Given the description of an element on the screen output the (x, y) to click on. 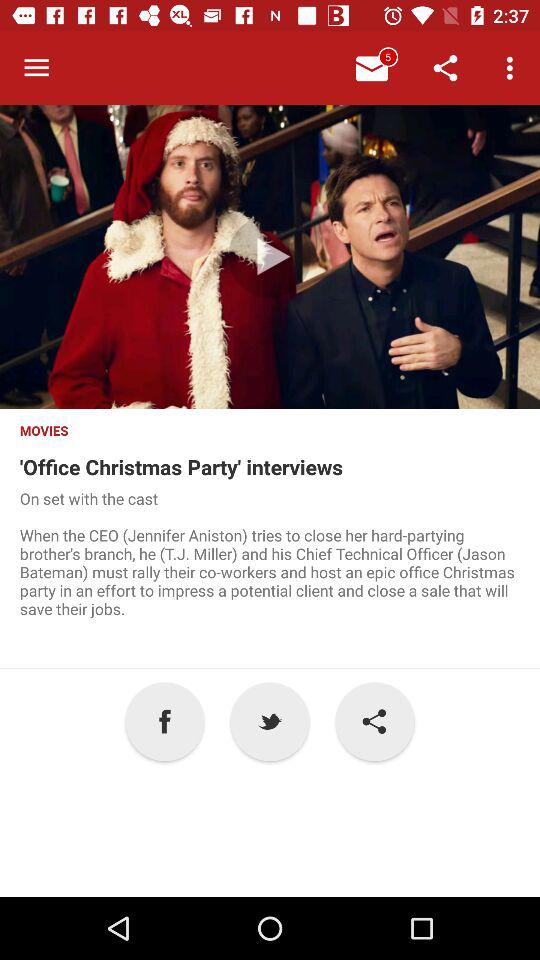
launch icon to the right of a icon (269, 721)
